Given the description of an element on the screen output the (x, y) to click on. 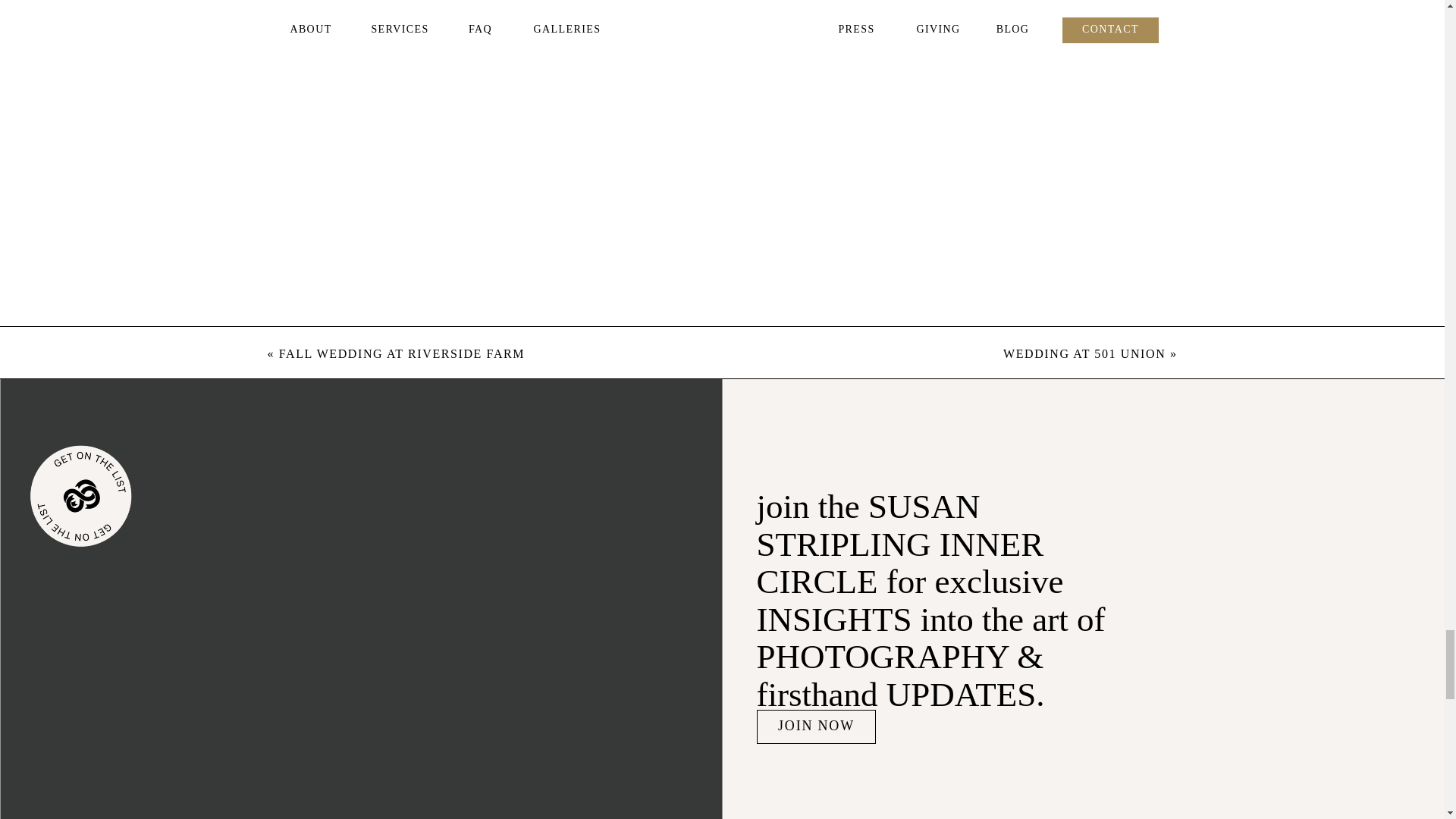
WEDDING AT 501 UNION (1084, 353)
JOIN NOW (815, 726)
FALL WEDDING AT RIVERSIDE FARM (401, 353)
